Given the description of an element on the screen output the (x, y) to click on. 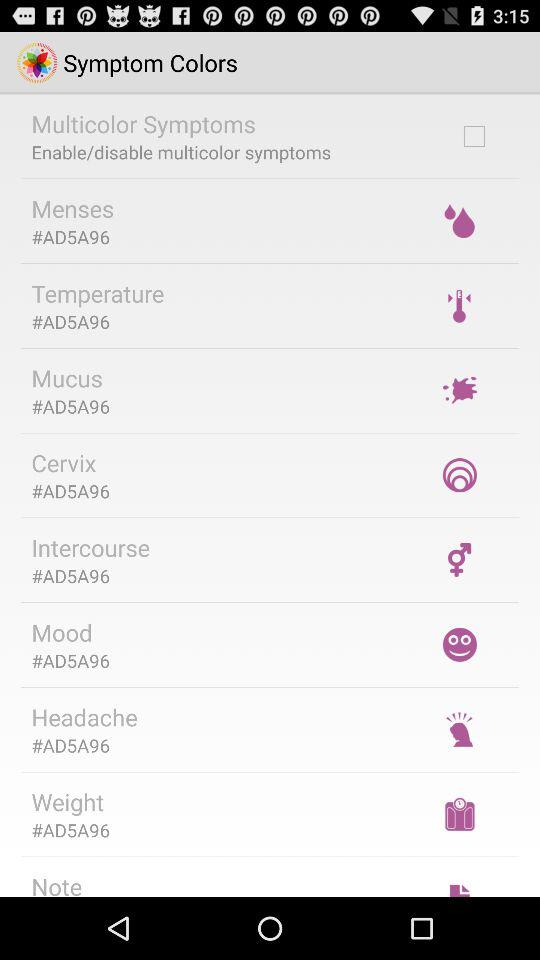
press the app below the #ad5a96 (90, 547)
